Given the description of an element on the screen output the (x, y) to click on. 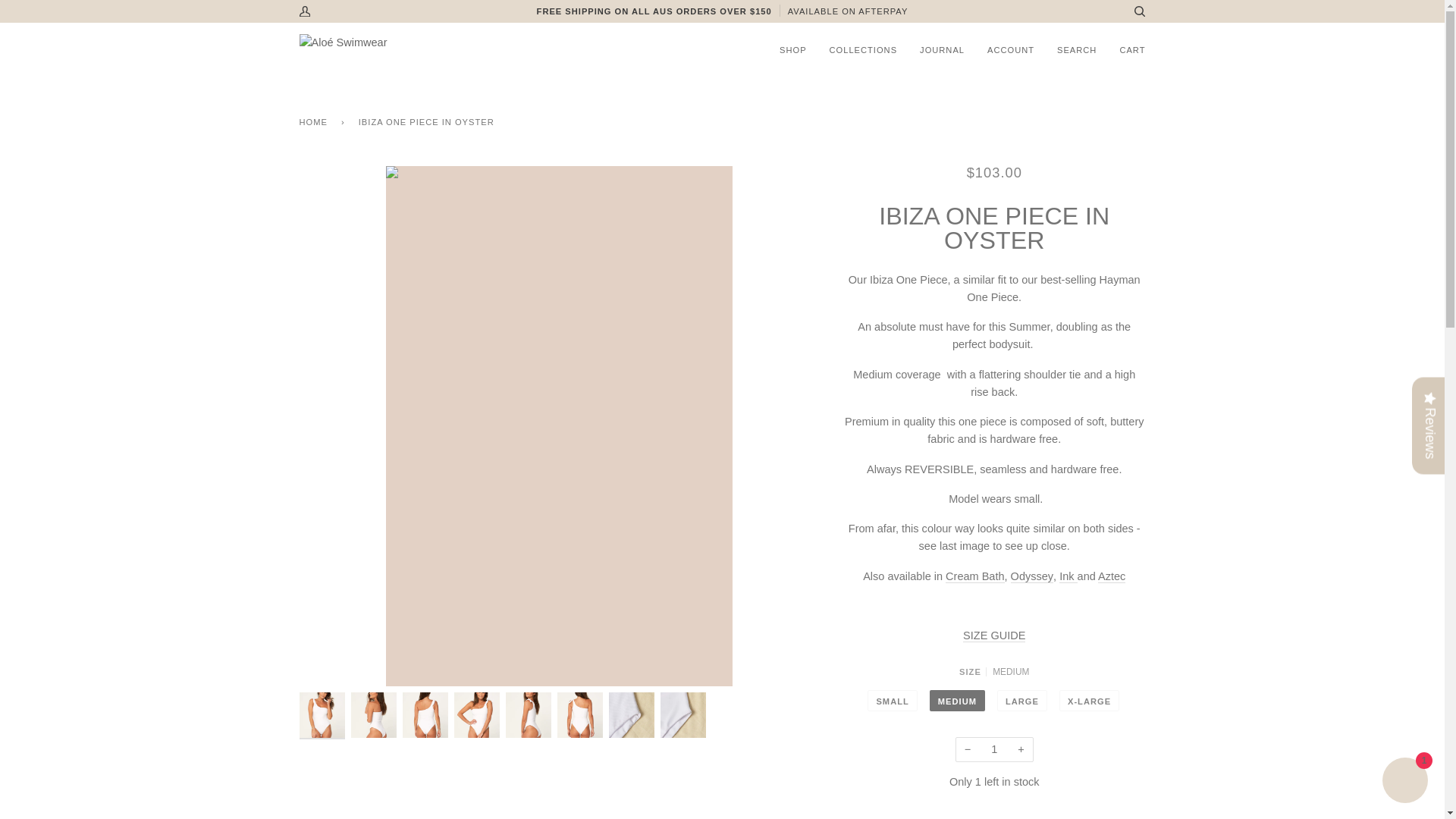
SEARCH (1076, 49)
My Account (309, 13)
Cream Bath (974, 576)
Search (1133, 13)
Ink (1066, 576)
JOURNAL (941, 49)
1 (994, 749)
CART (1132, 49)
Back to the frontpage (314, 122)
ACCOUNT (1010, 49)
Aztec (1111, 576)
COLLECTIONS (863, 49)
Shopify online store chat (1404, 781)
Odyssey (1031, 576)
Ink (1075, 576)
